Given the description of an element on the screen output the (x, y) to click on. 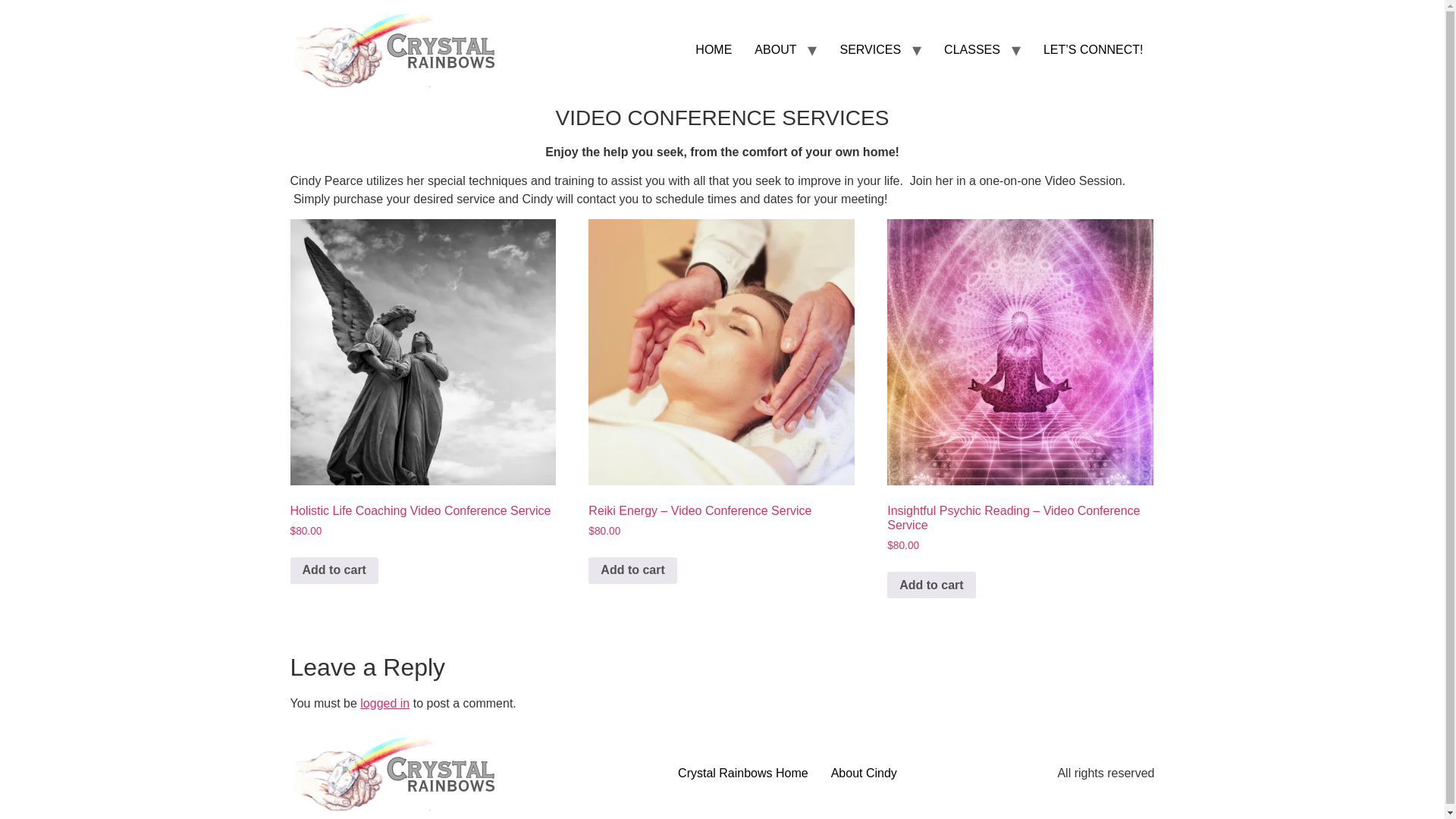
About Cindy (863, 773)
Add to cart (632, 570)
HOME (713, 50)
Add to cart (333, 570)
SERVICES (870, 50)
Crystal Rainbows Home (742, 773)
Add to cart (930, 584)
ABOUT (775, 50)
logged in (384, 703)
